Given the description of an element on the screen output the (x, y) to click on. 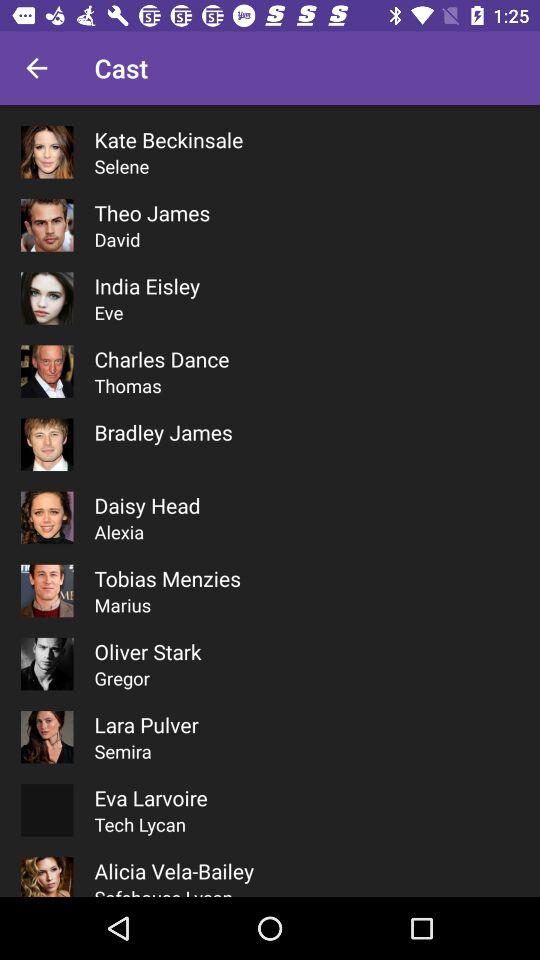
turn off the item above safehouse lycan (174, 870)
